Given the description of an element on the screen output the (x, y) to click on. 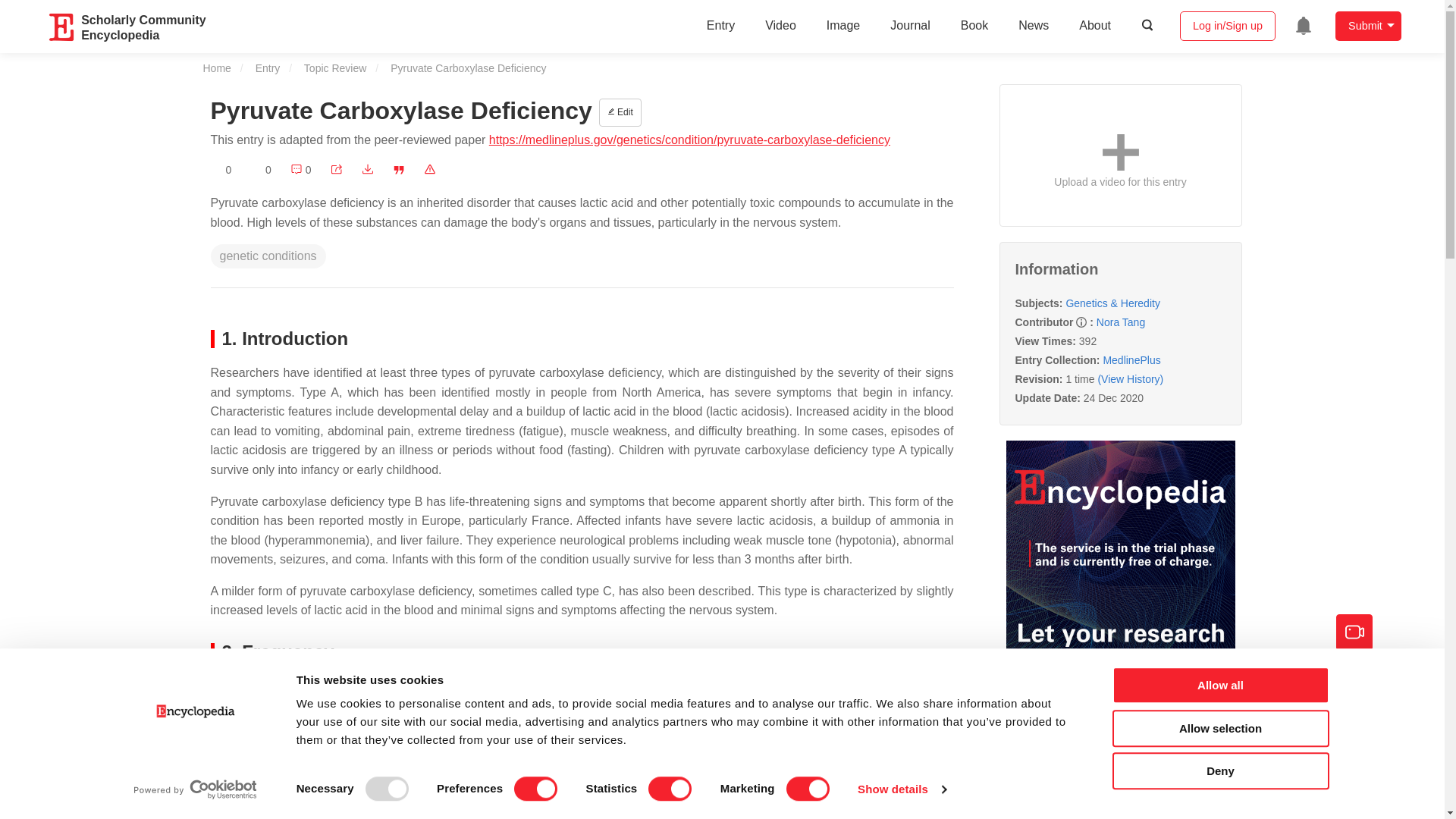
Show details (900, 789)
Share (336, 169)
Favorite (221, 169)
Deny (1219, 770)
Download as PDF (367, 169)
Cite (398, 169)
Comment (300, 169)
Edit (620, 112)
Report (429, 169)
Like (260, 169)
Encyclopedia (62, 27)
